Given the description of an element on the screen output the (x, y) to click on. 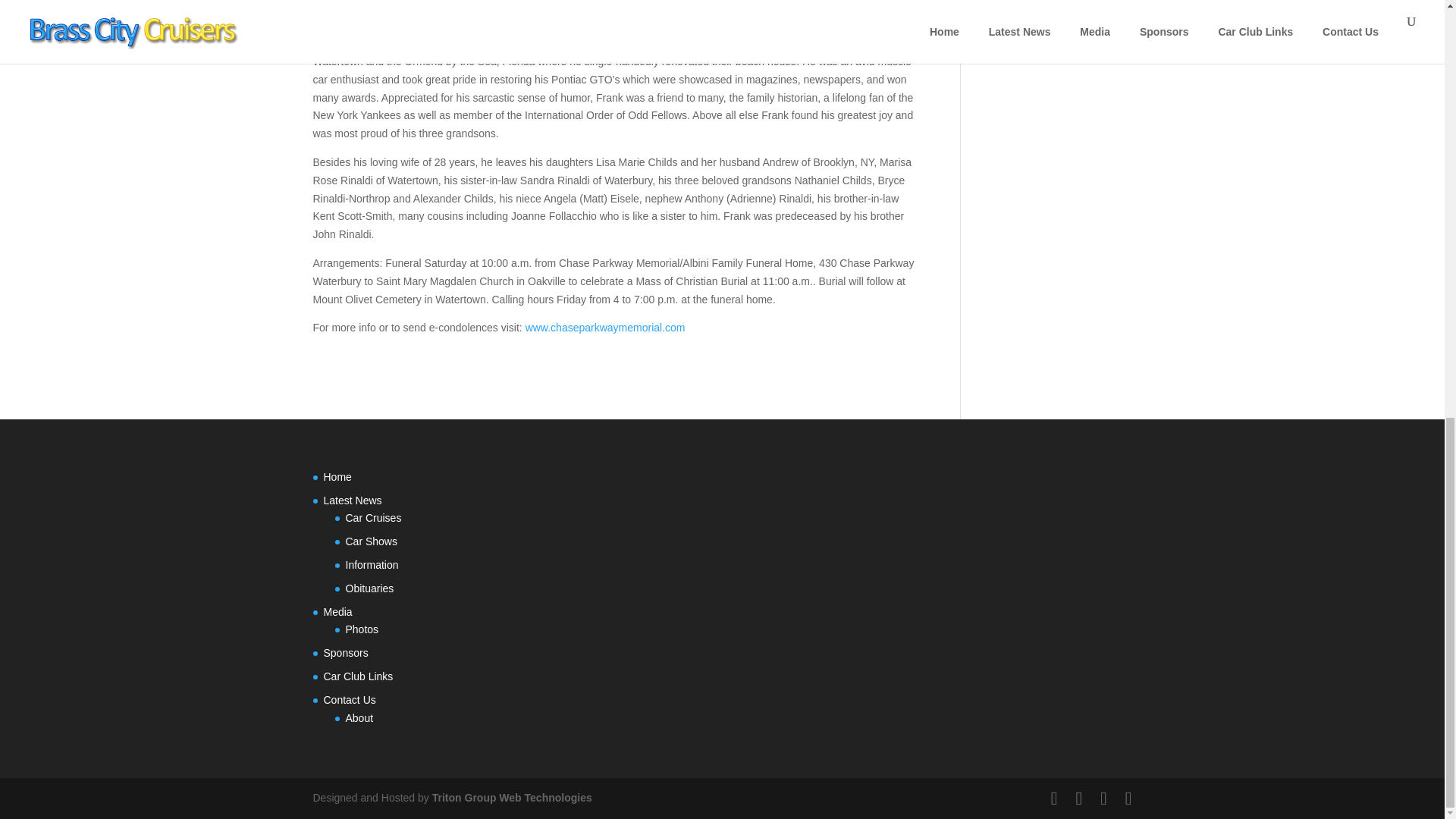
www.chaseparkwaymemorial.com (605, 327)
Car Cruises (373, 517)
Media (337, 612)
Contact Us (349, 699)
Triton Group Web Technologies (512, 797)
Information (372, 564)
Car Club Links (358, 676)
Photos (362, 629)
About (360, 717)
Sponsors (345, 653)
Latest News (352, 500)
Obituaries (370, 588)
Home (336, 476)
Car Shows (371, 541)
